Given the description of an element on the screen output the (x, y) to click on. 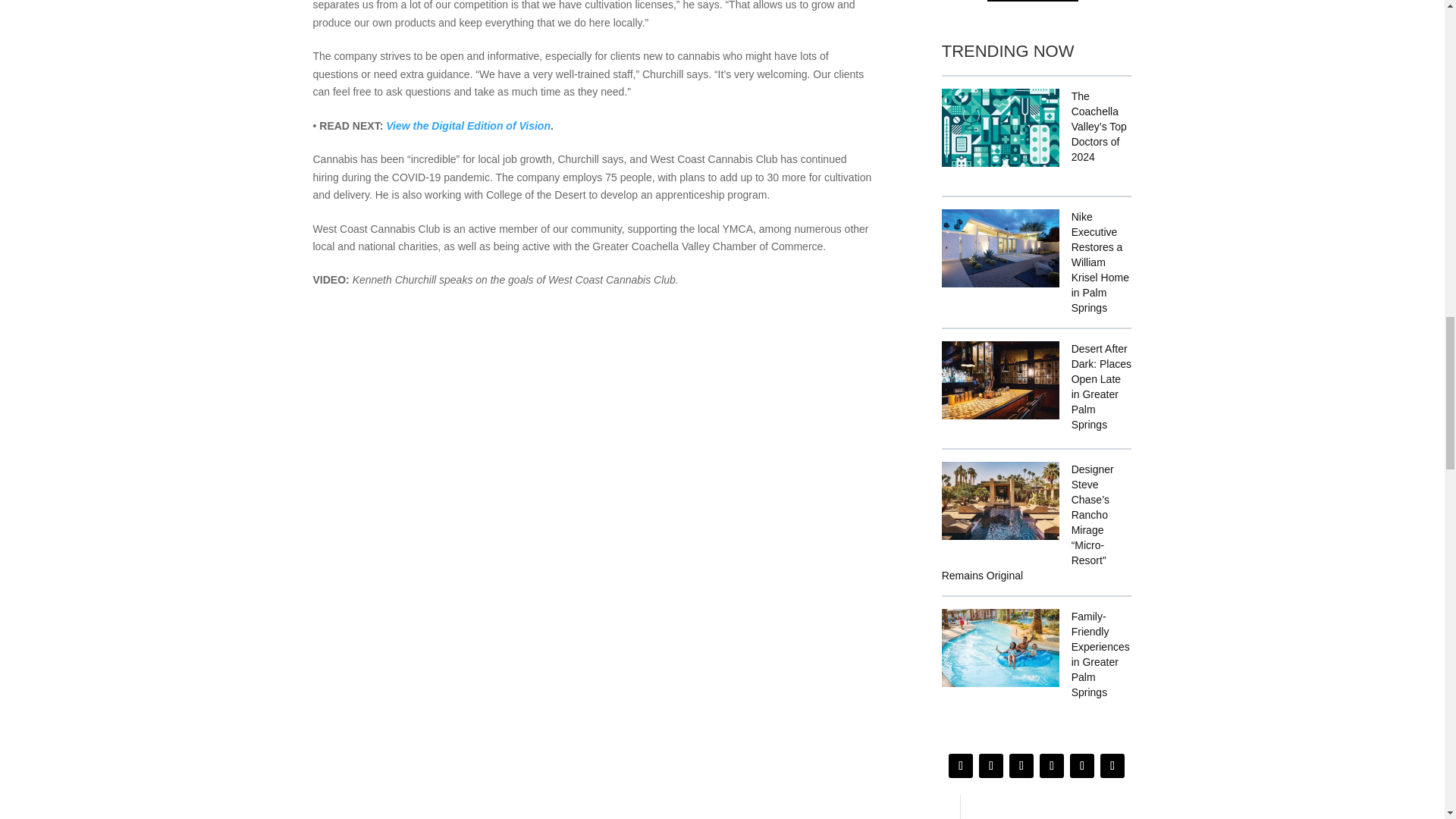
Follow on Facebook (990, 765)
Follow on Youtube (1051, 765)
Follow on Instagram (960, 765)
Follow on LinkedIn (1082, 765)
Follow on X (1021, 765)
Follow on Pinterest (1112, 765)
